Given the description of an element on the screen output the (x, y) to click on. 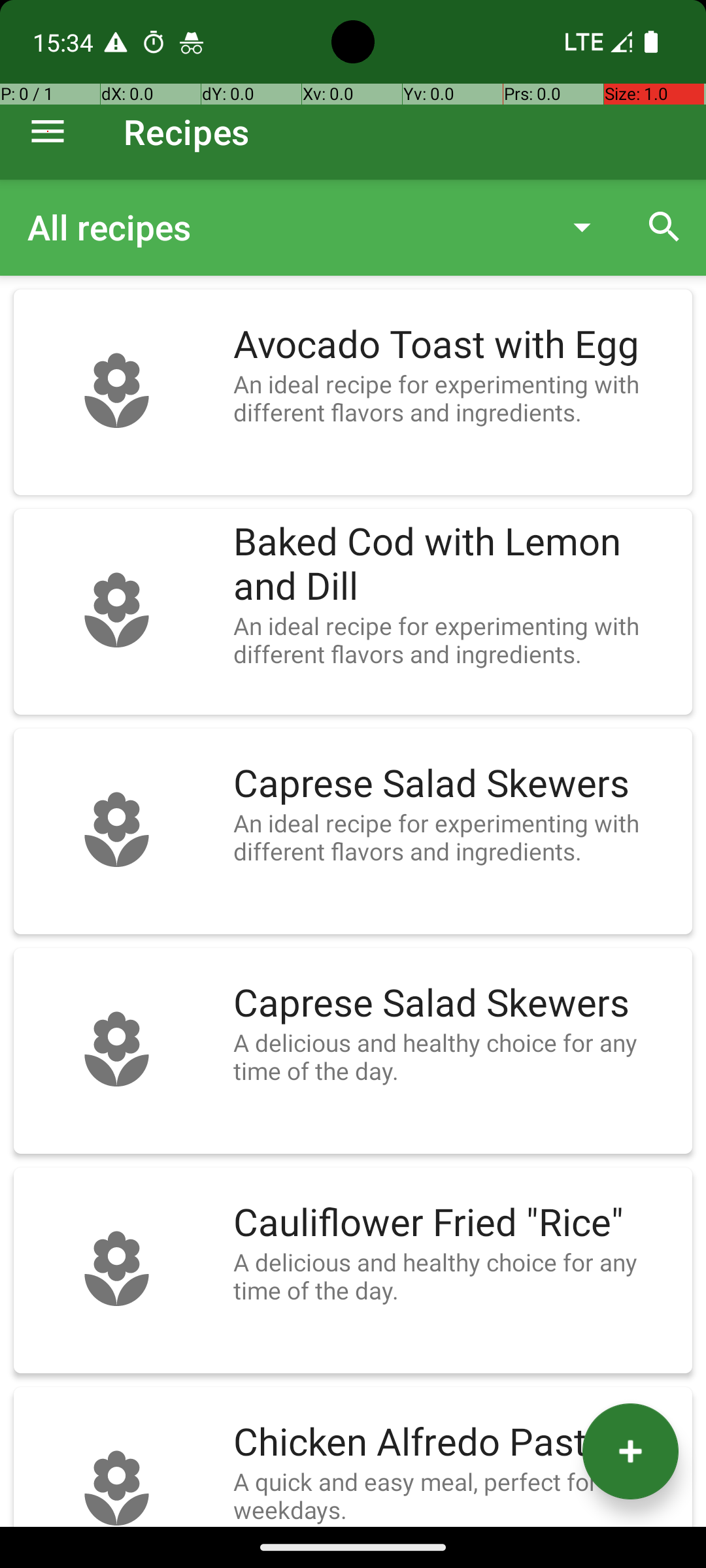
All recipes Element type: android.widget.TextView (283, 226)
Avocado Toast with Egg Element type: android.widget.TextView (455, 344)
Baked Cod with Lemon and Dill Element type: android.widget.TextView (455, 564)
Caprese Salad Skewers Element type: android.widget.TextView (455, 783)
Cauliflower Fried "Rice" Element type: android.widget.TextView (455, 1222)
Chicken Alfredo Pasta Element type: android.widget.TextView (455, 1442)
A quick and easy meal, perfect for busy weekdays. Element type: android.widget.TextView (455, 1495)
